Given the description of an element on the screen output the (x, y) to click on. 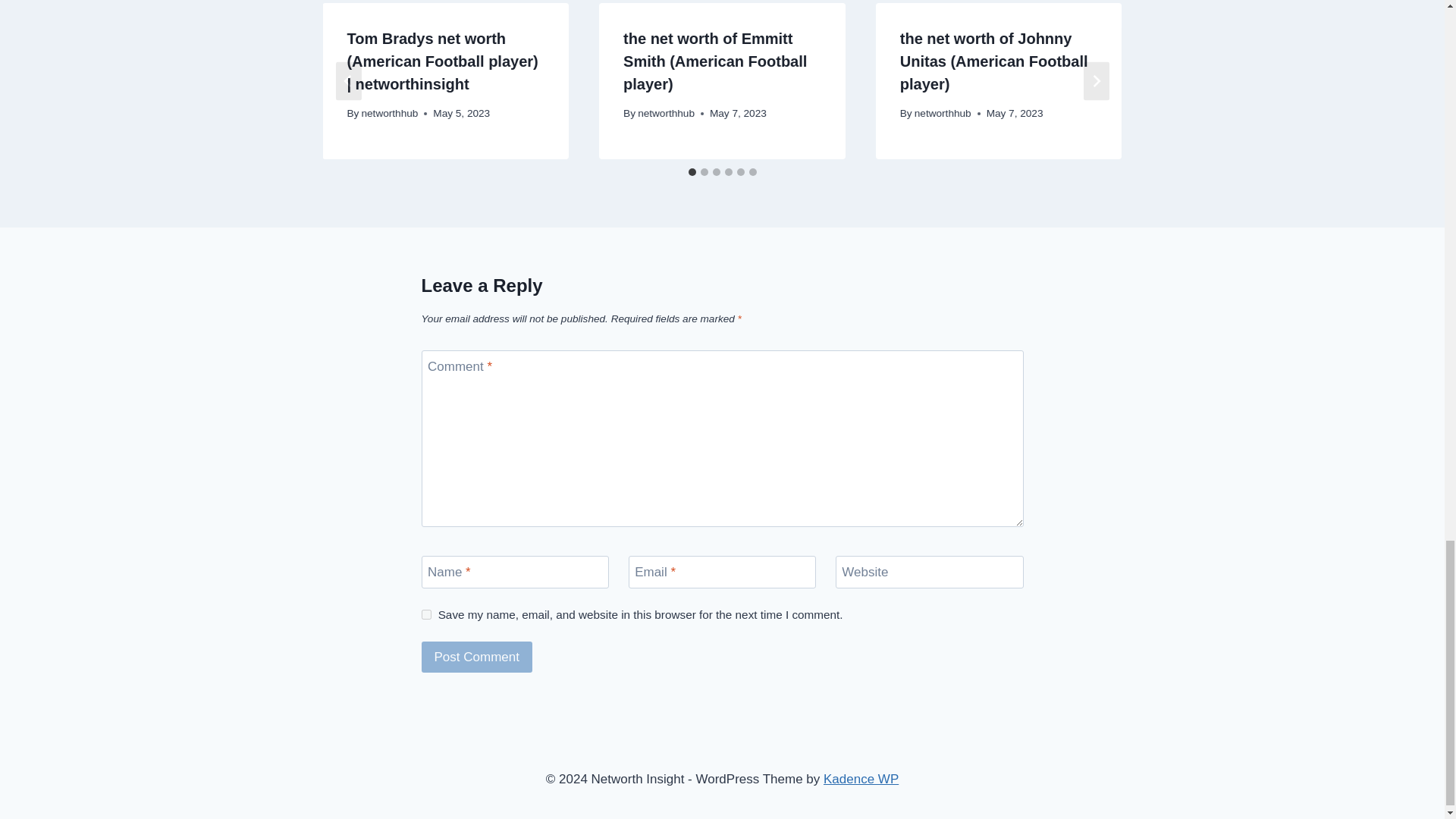
yes (426, 614)
Post Comment (477, 656)
